Given the description of an element on the screen output the (x, y) to click on. 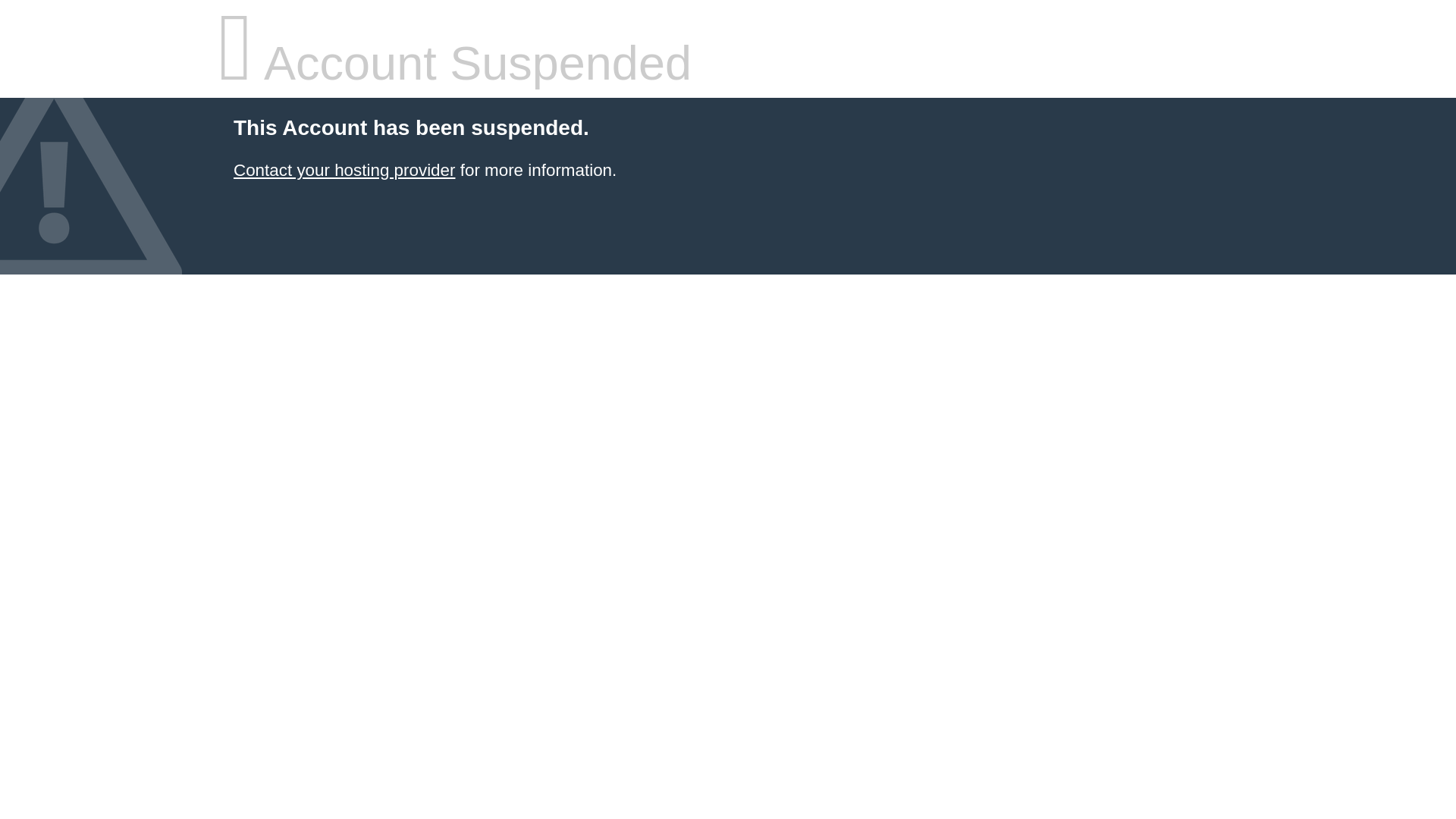
Contact your hosting provider (343, 169)
